Given the description of an element on the screen output the (x, y) to click on. 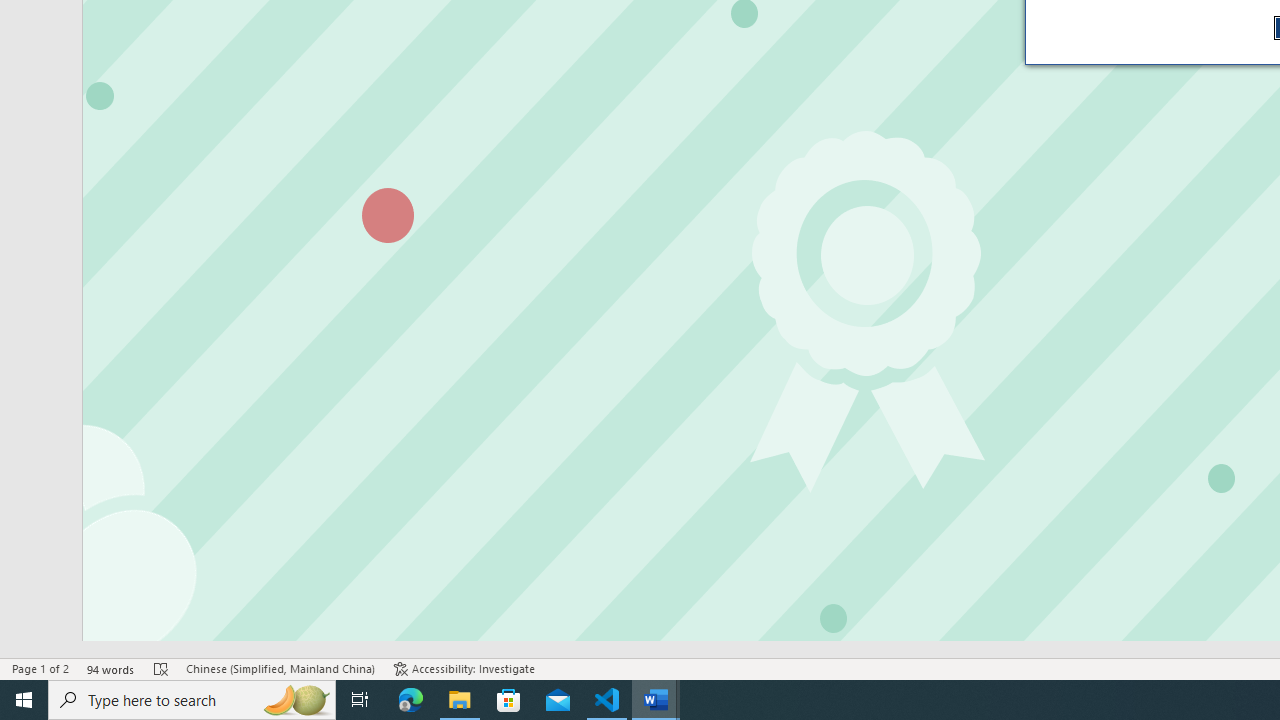
Word - 2 running windows (656, 699)
Type here to search (191, 699)
Microsoft Store (509, 699)
Microsoft Edge (411, 699)
Language Chinese (Simplified, Mainland China) (279, 668)
Search highlights icon opens search home window (295, 699)
File Explorer - 1 running window (460, 699)
Task View (359, 699)
Word Count 94 words (111, 668)
Spelling and Grammar Check Errors (161, 668)
Visual Studio Code - 1 running window (607, 699)
Page Number Page 1 of 2 (39, 668)
Start (24, 699)
